Given the description of an element on the screen output the (x, y) to click on. 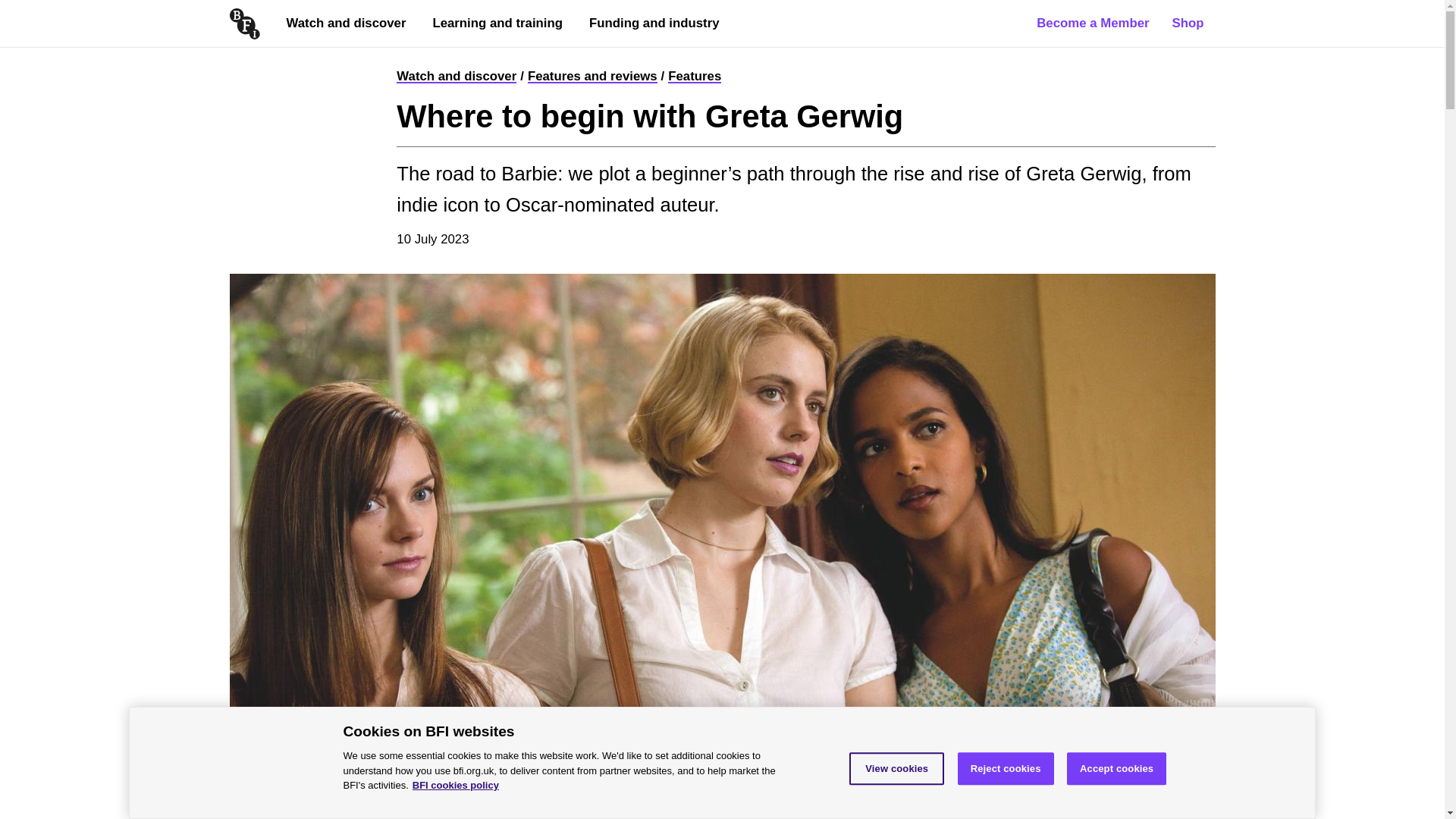
Open submenu (295, 54)
Features and reviews (592, 75)
Become a Member (1092, 22)
Open submenu (598, 54)
Features (694, 75)
Watch and discover (456, 75)
Skip to content (18, 7)
Funding and industry (654, 23)
Shop (1187, 22)
Open submenu (441, 54)
